Given the description of an element on the screen output the (x, y) to click on. 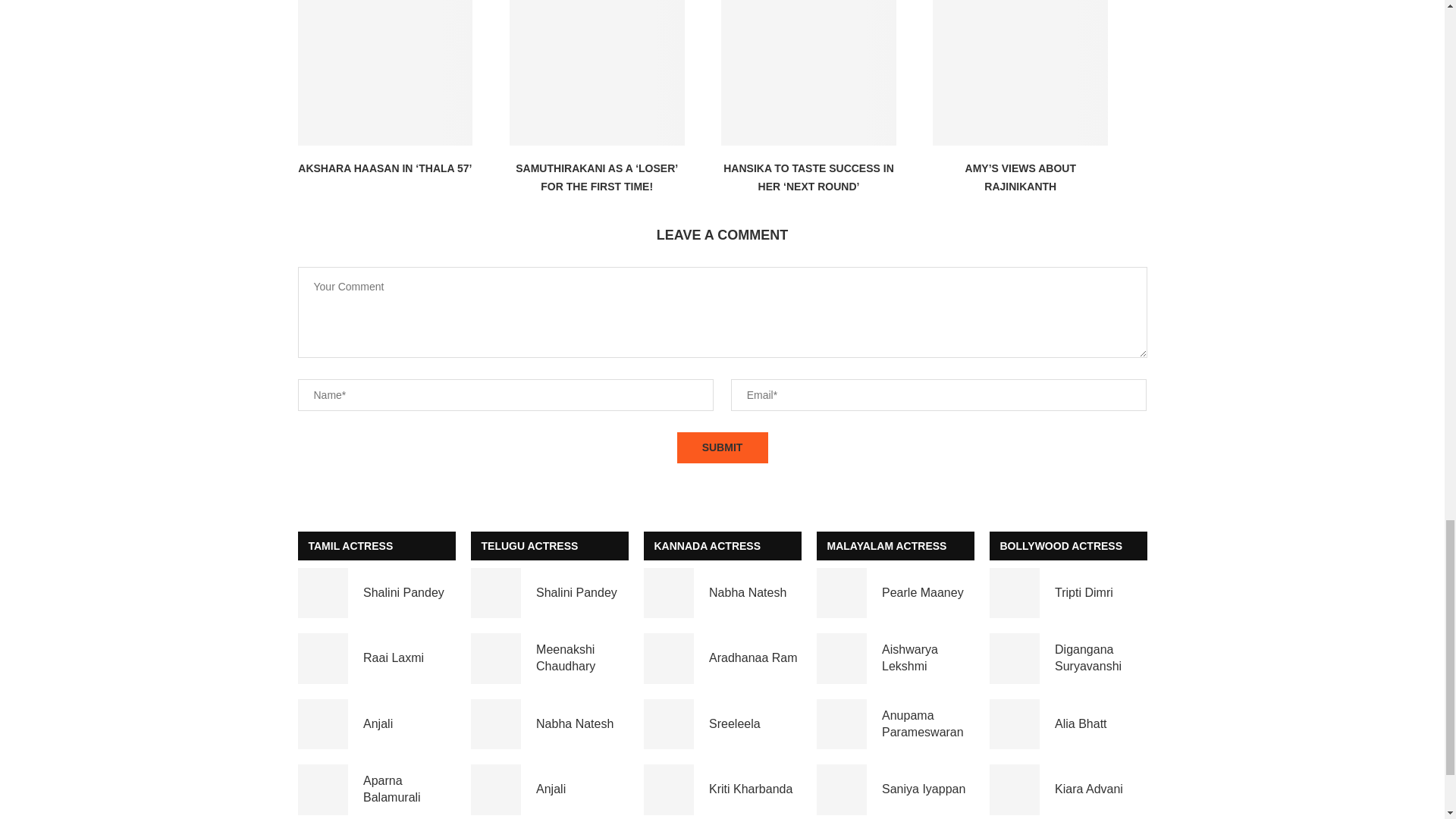
Anjali (322, 724)
Aparna Balamurali (322, 789)
Submit (722, 447)
Shalini Pandey (322, 593)
Raai Laxmi (322, 658)
Shalini Pandey (495, 593)
Nabha Natesh (495, 724)
Nabha Natesh (668, 593)
Anjali (495, 789)
Meenakshi Chaudhary (495, 658)
